Given the description of an element on the screen output the (x, y) to click on. 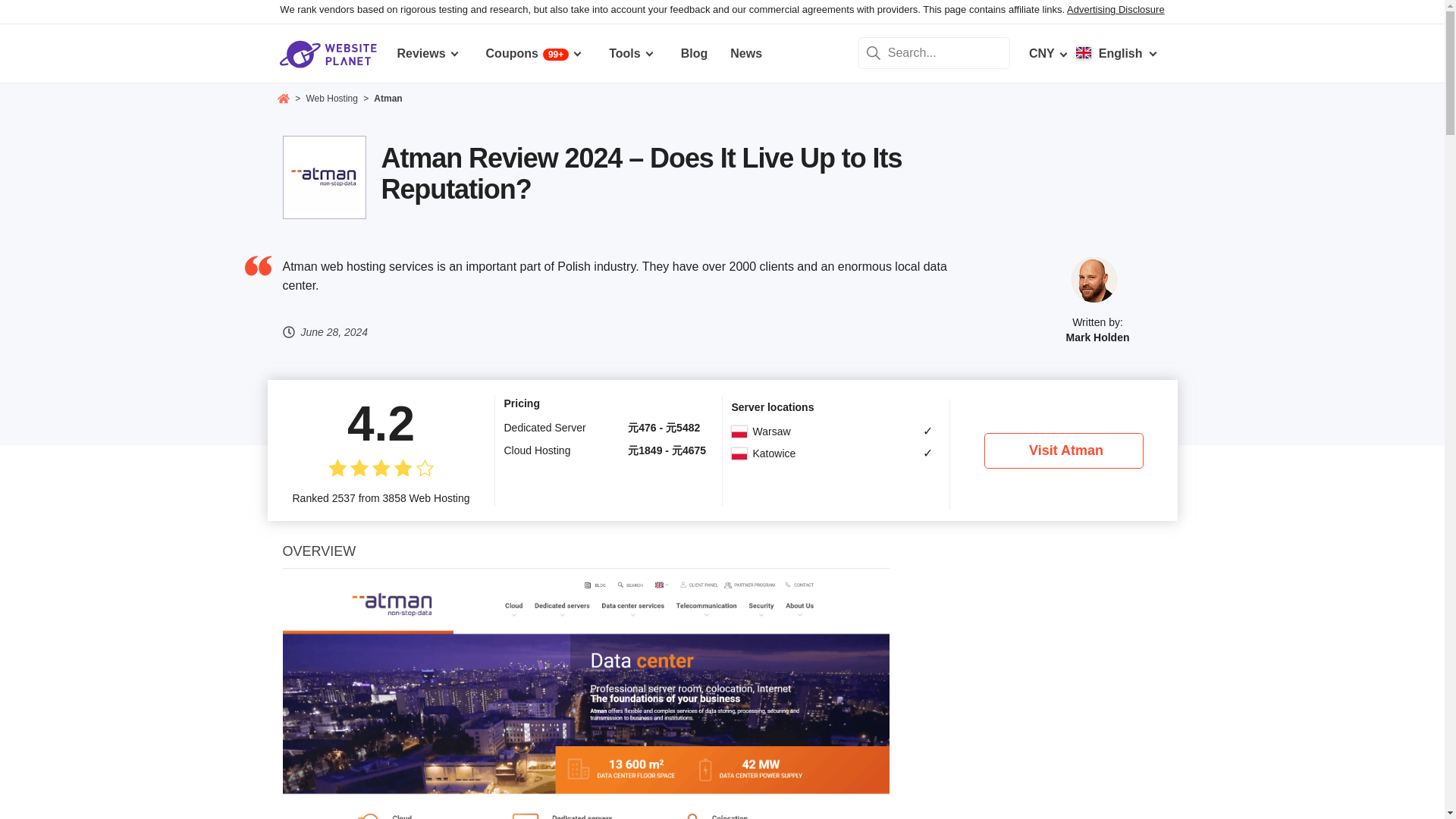
Search (873, 52)
Search (873, 52)
Advertising Disclosure (1115, 9)
